Given the description of an element on the screen output the (x, y) to click on. 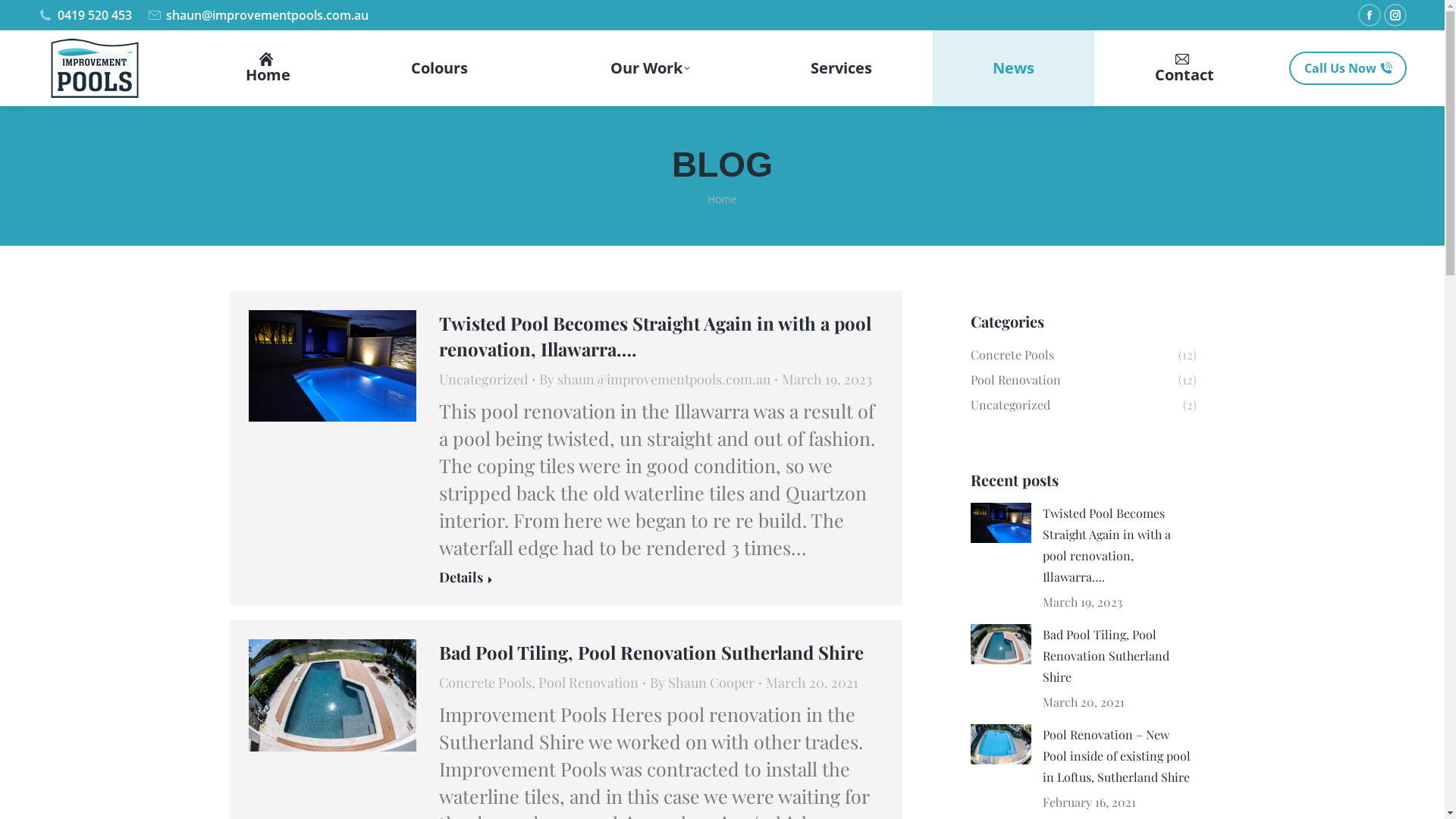
Instagram page opens in new window Element type: text (1394, 14)
Contact Element type: text (1184, 68)
Pool Renovation Element type: text (588, 682)
Bad Pool Tiling, Pool Renovation Sutherland Shire Element type: text (1119, 655)
Home Element type: text (267, 68)
Home Element type: text (722, 198)
News Element type: text (1013, 68)
Services Element type: text (840, 68)
By Shaun Cooper Element type: text (705, 682)
By shaun@improvementpools.com.au Element type: text (658, 379)
0419 520 453 Element type: text (84, 14)
Bad Pool Tiling, Pool Renovation Sutherland Shire Element type: text (651, 652)
Facebook page opens in new window Element type: text (1369, 14)
March 19, 2023 Element type: text (826, 379)
Pool Reno Woronora Element type: hover (332, 695)
March 20, 2021 Element type: text (811, 682)
Colours Element type: text (439, 68)
Details Element type: text (465, 578)
Call Us Now Element type: text (1347, 67)
shaun@improvementpools.com.au Element type: text (258, 14)
untitled-41Shaun_Cooper-Website2022-3 Element type: hover (332, 365)
Our Work Element type: text (638, 68)
Concrete Pools Element type: text (485, 682)
Uncategorized Element type: text (483, 379)
